Given the description of an element on the screen output the (x, y) to click on. 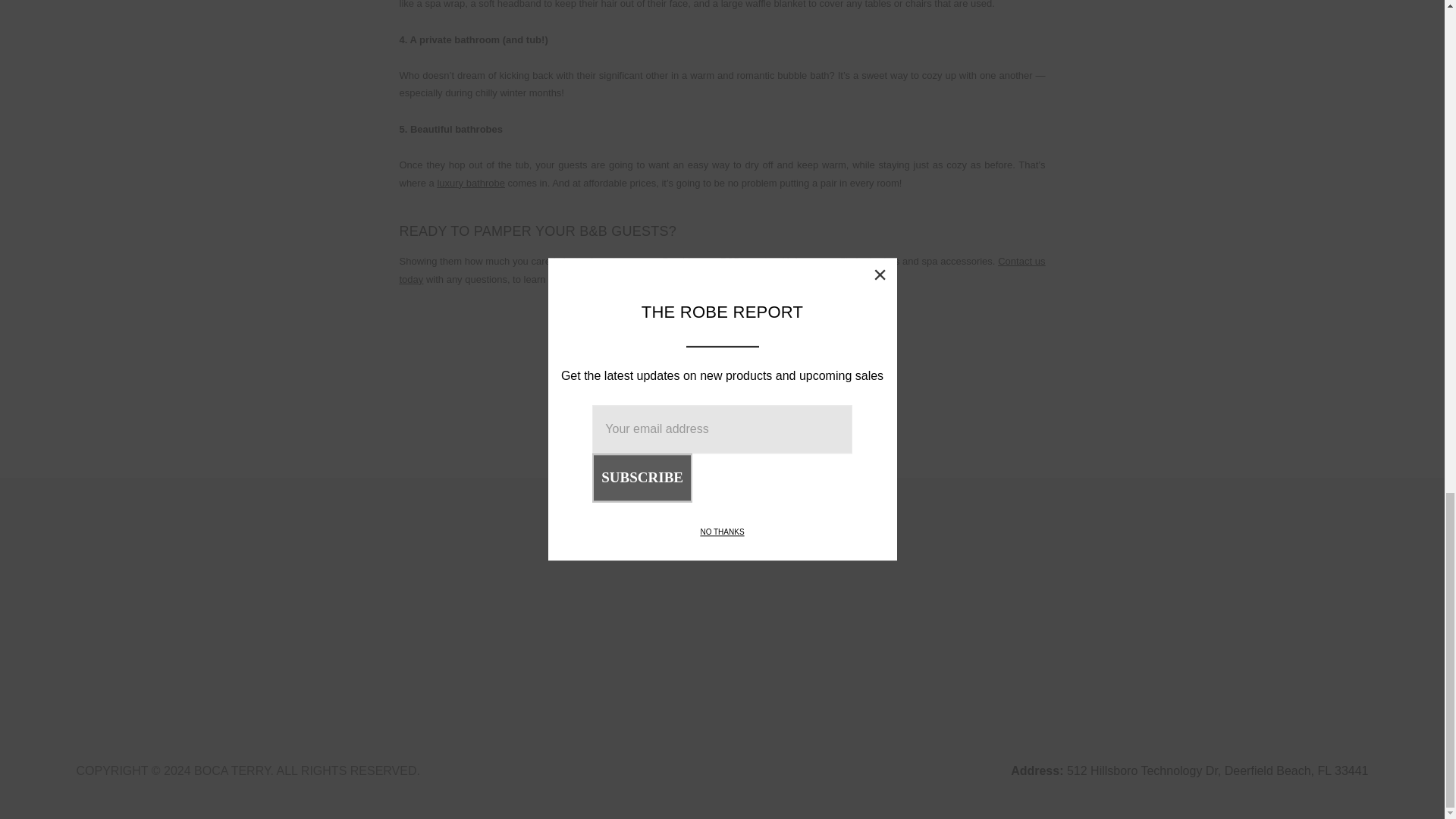
Contact us today (721, 269)
luxury bathrobe (470, 183)
